Given the description of an element on the screen output the (x, y) to click on. 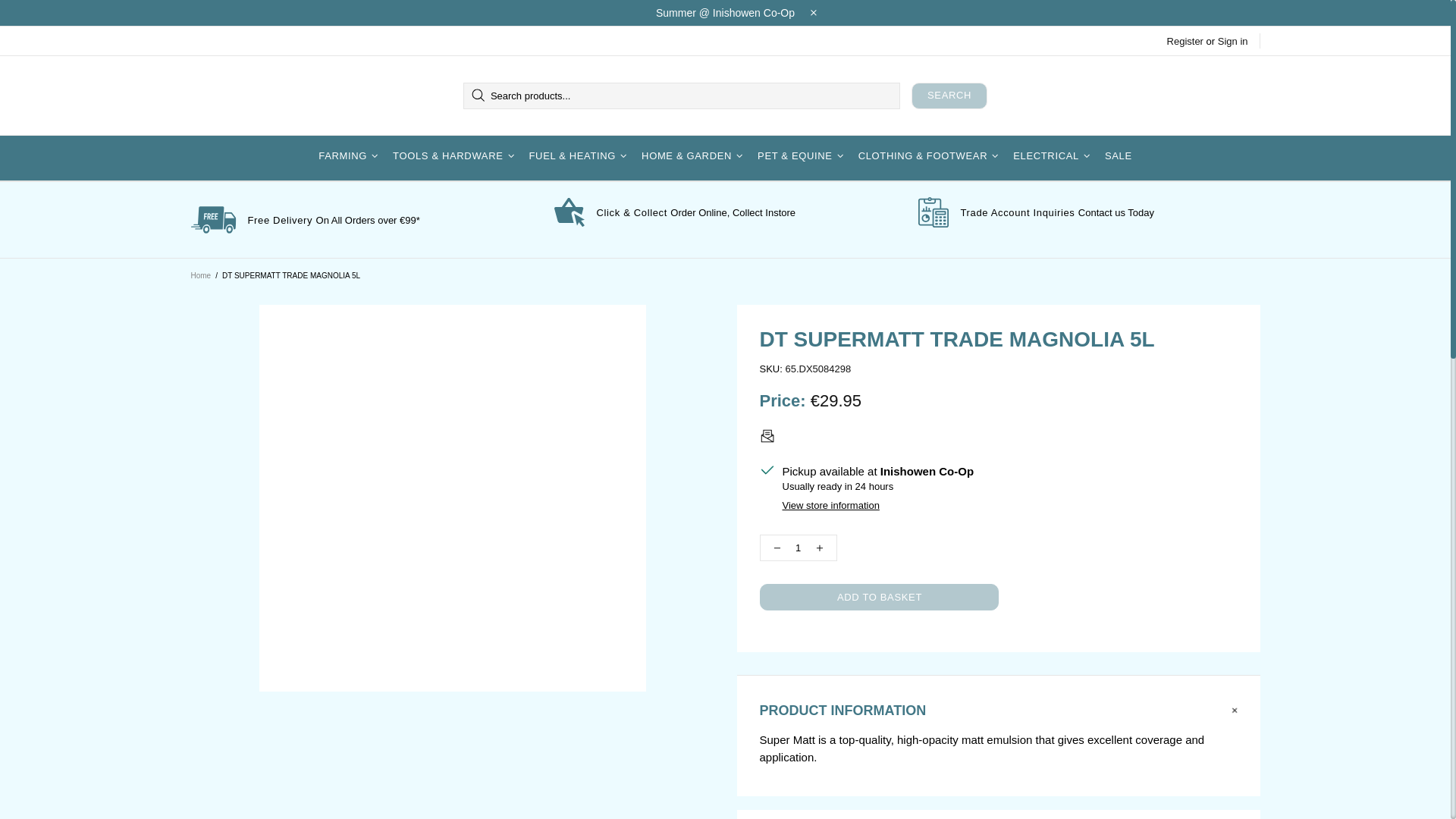
Sign in (1232, 41)
Register (1185, 41)
FARMING (350, 156)
SEARCH (949, 94)
1 (798, 547)
Inishowen Co-Op (247, 95)
